Given the description of an element on the screen output the (x, y) to click on. 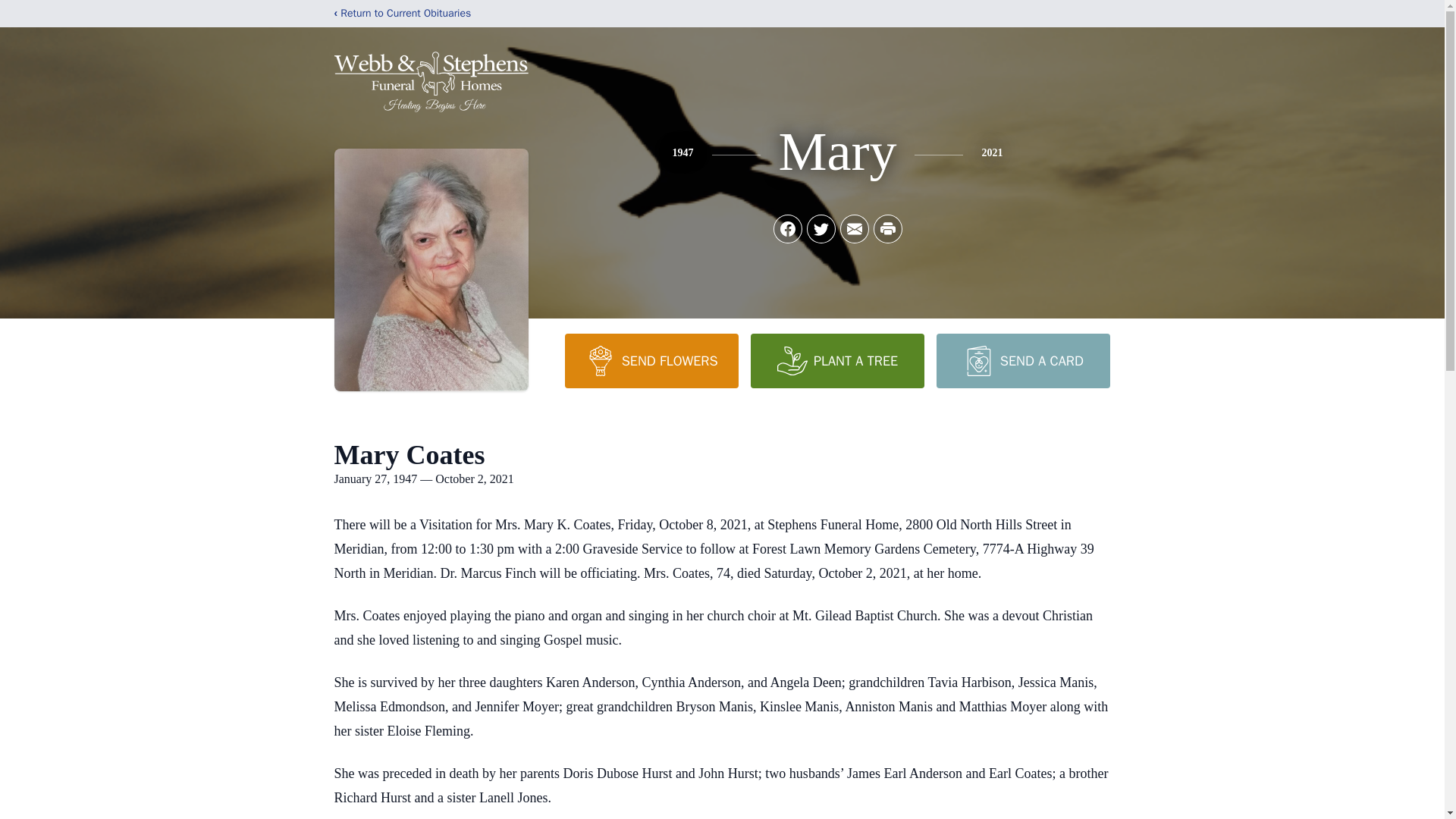
SEND FLOWERS (651, 360)
PLANT A TREE (837, 360)
SEND A CARD (1022, 360)
